Given the description of an element on the screen output the (x, y) to click on. 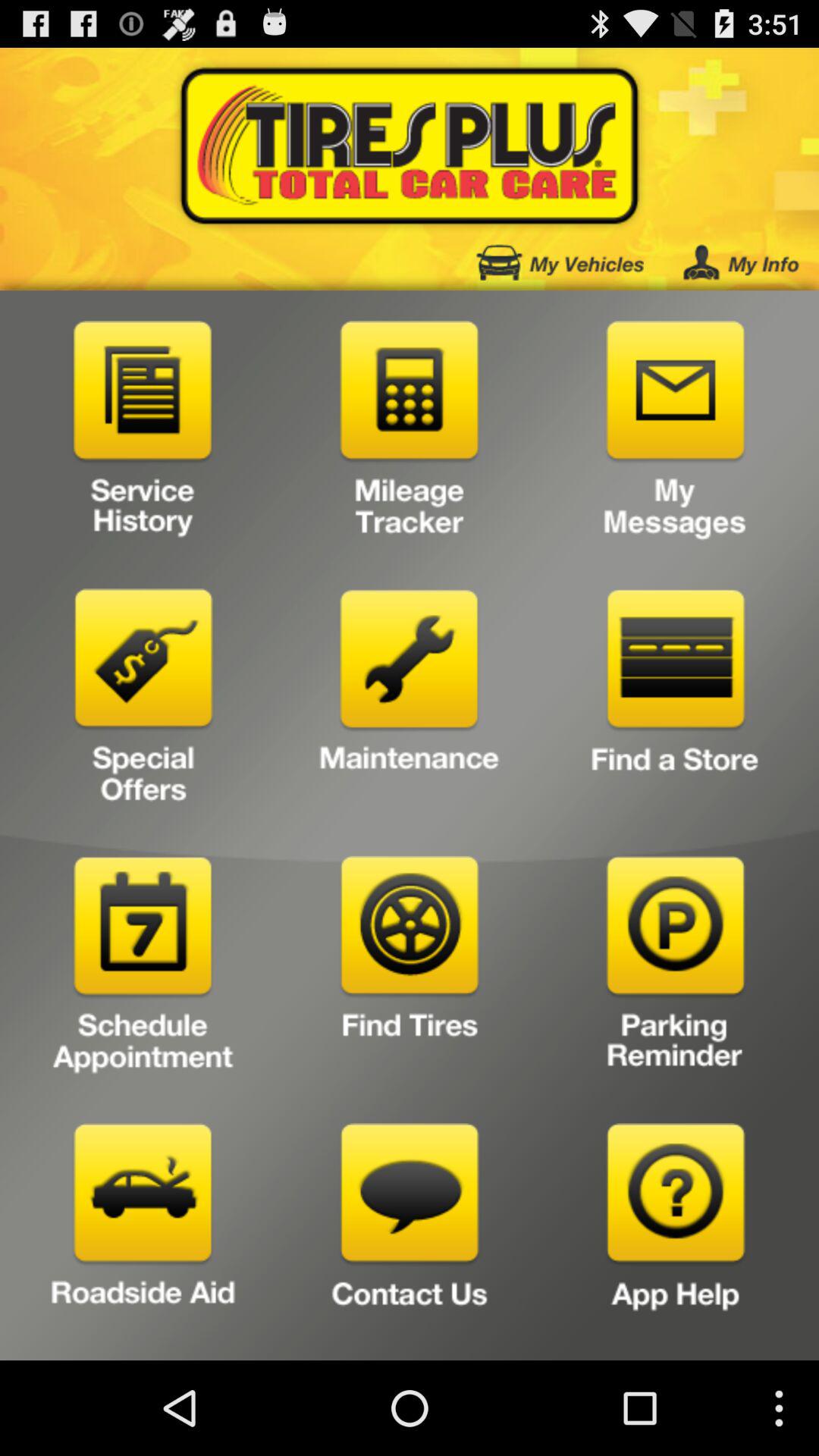
track the mileage (409, 434)
